Given the description of an element on the screen output the (x, y) to click on. 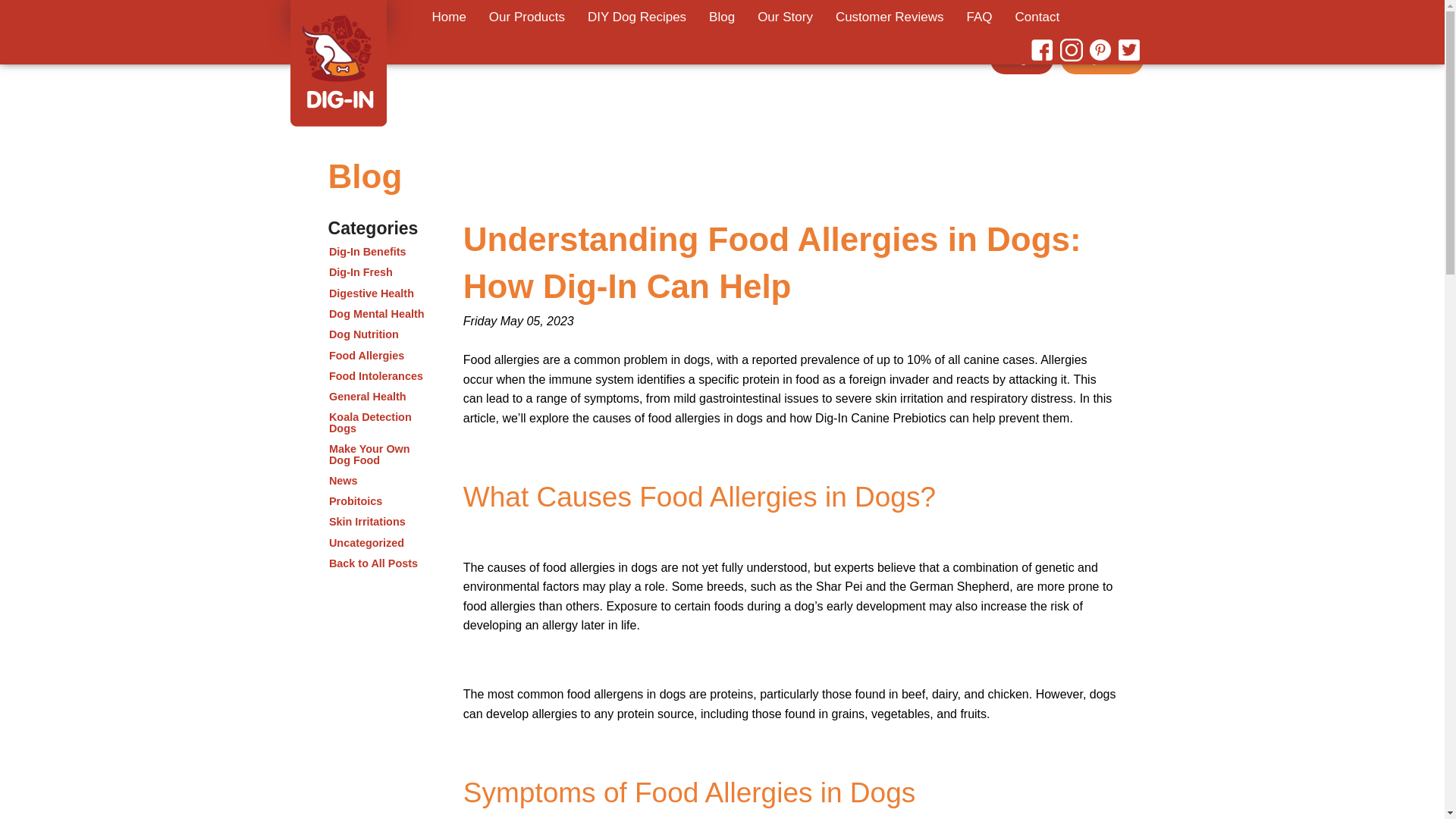
Our Products (526, 17)
DIY Dog Recipes (636, 17)
Skin Irritations (380, 522)
FAQ (979, 17)
Customer Reviews (889, 17)
Uncategorized (380, 543)
Our Story (784, 17)
Home (448, 17)
Food Allergies (380, 356)
Dog Mental Health (380, 314)
Koala Detection Dogs (380, 423)
Contact (1037, 17)
Dog Nutrition (380, 335)
Digestive Health (380, 294)
Dig-In Benefits (380, 252)
